Given the description of an element on the screen output the (x, y) to click on. 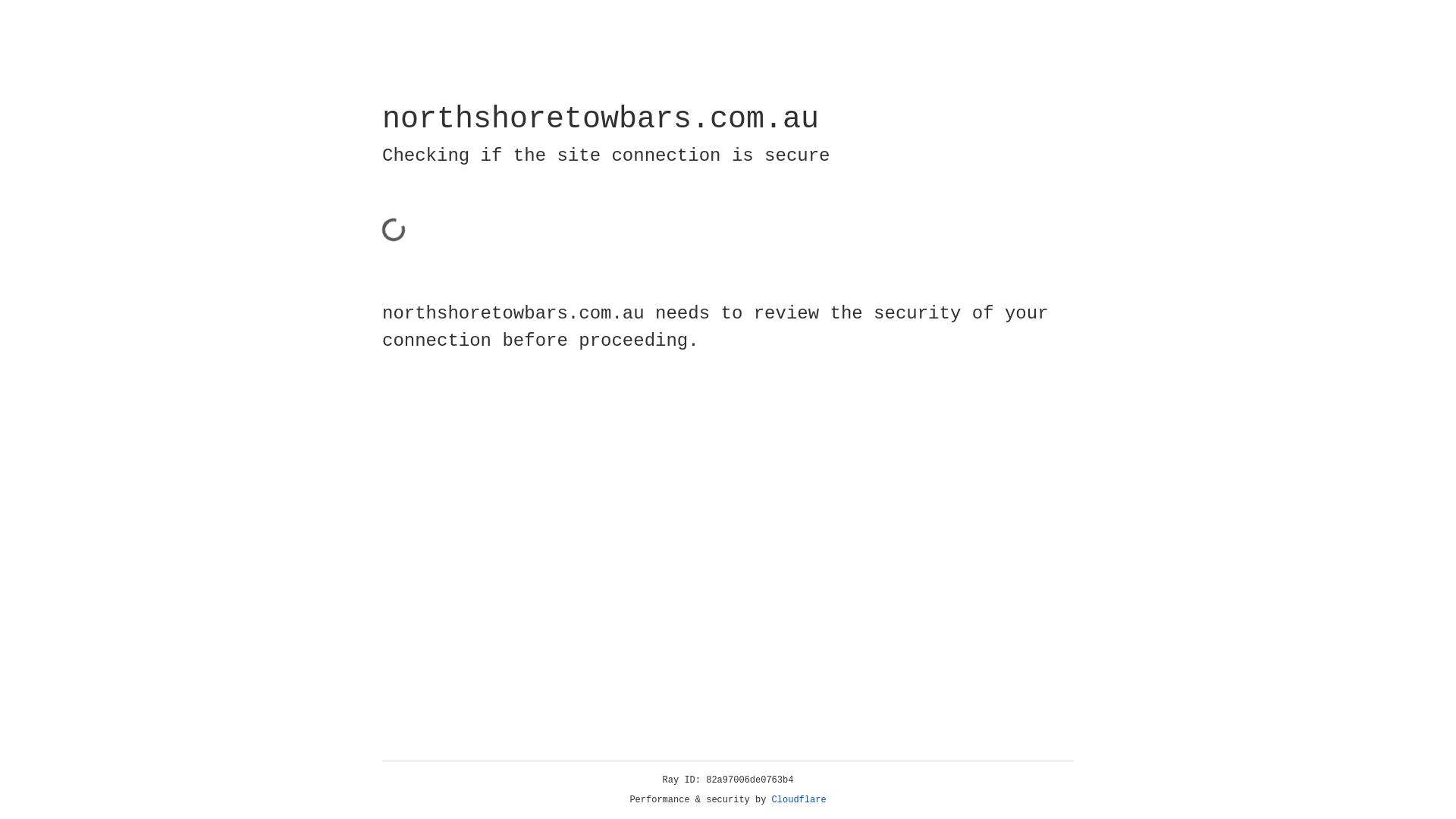
Cloudflare Element type: text (798, 799)
